Given the description of an element on the screen output the (x, y) to click on. 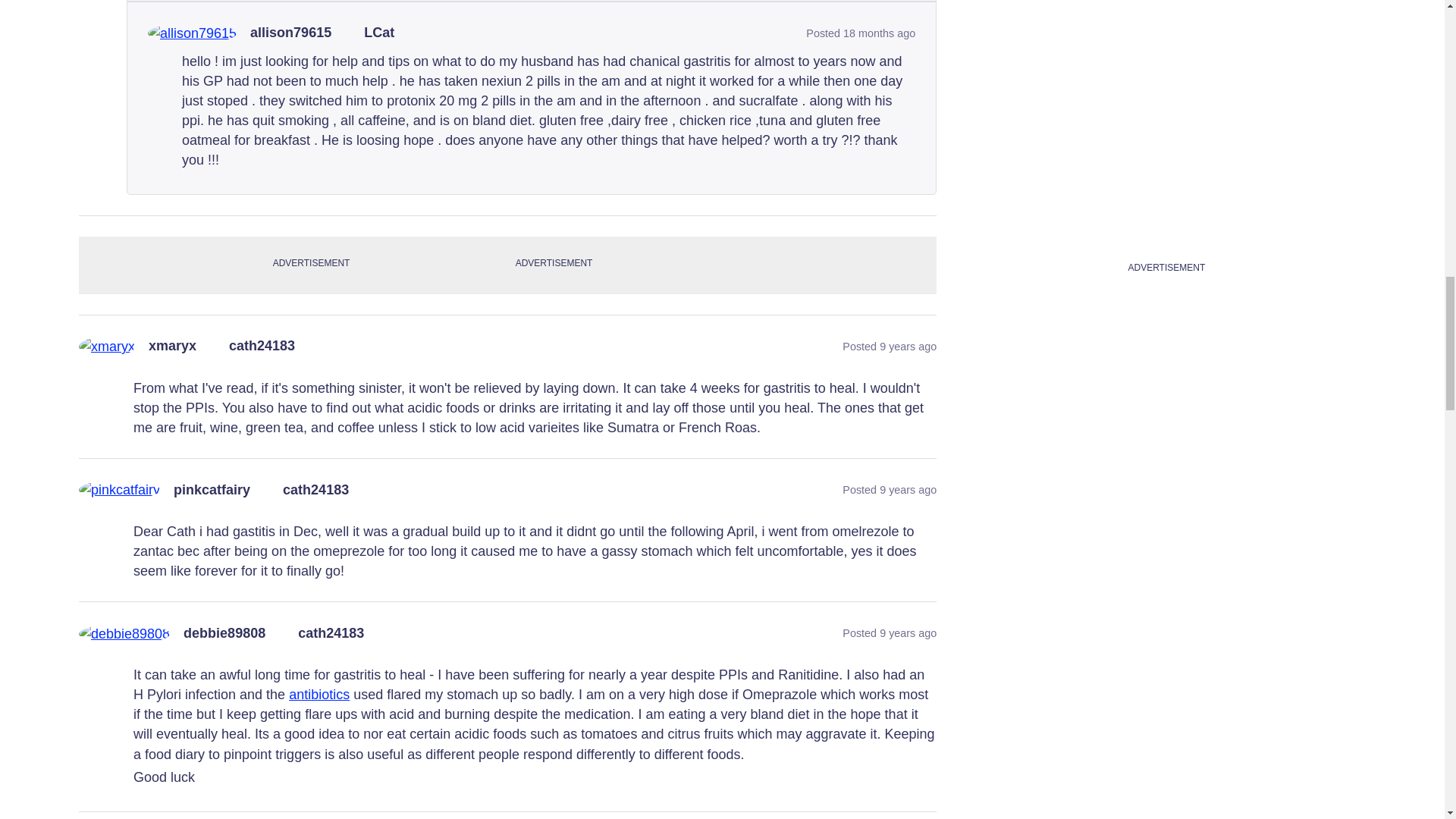
cath24183 (261, 346)
xmaryx (172, 346)
antibiotics (318, 694)
LCat (379, 33)
cath24183 (315, 490)
View pinkcatfairy's profile (211, 490)
allison79615 (290, 33)
View debbie89808's profile (223, 633)
View xmaryx's profile (172, 346)
pinkcatfairy (211, 490)
